Given the description of an element on the screen output the (x, y) to click on. 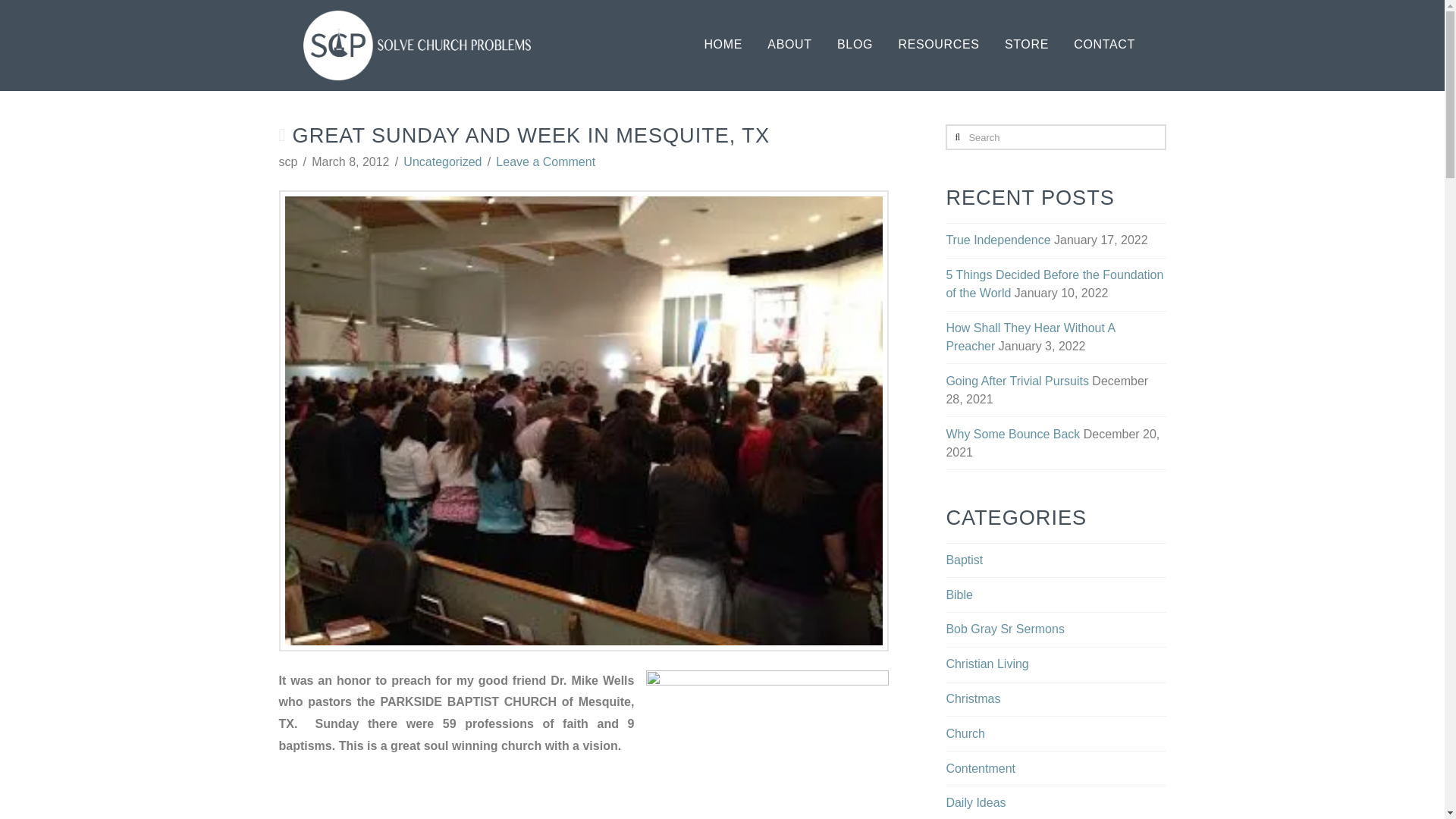
Uncategorized (442, 161)
CONTACT (1104, 45)
Leave a Comment (545, 161)
RESOURCES (938, 45)
